Given the description of an element on the screen output the (x, y) to click on. 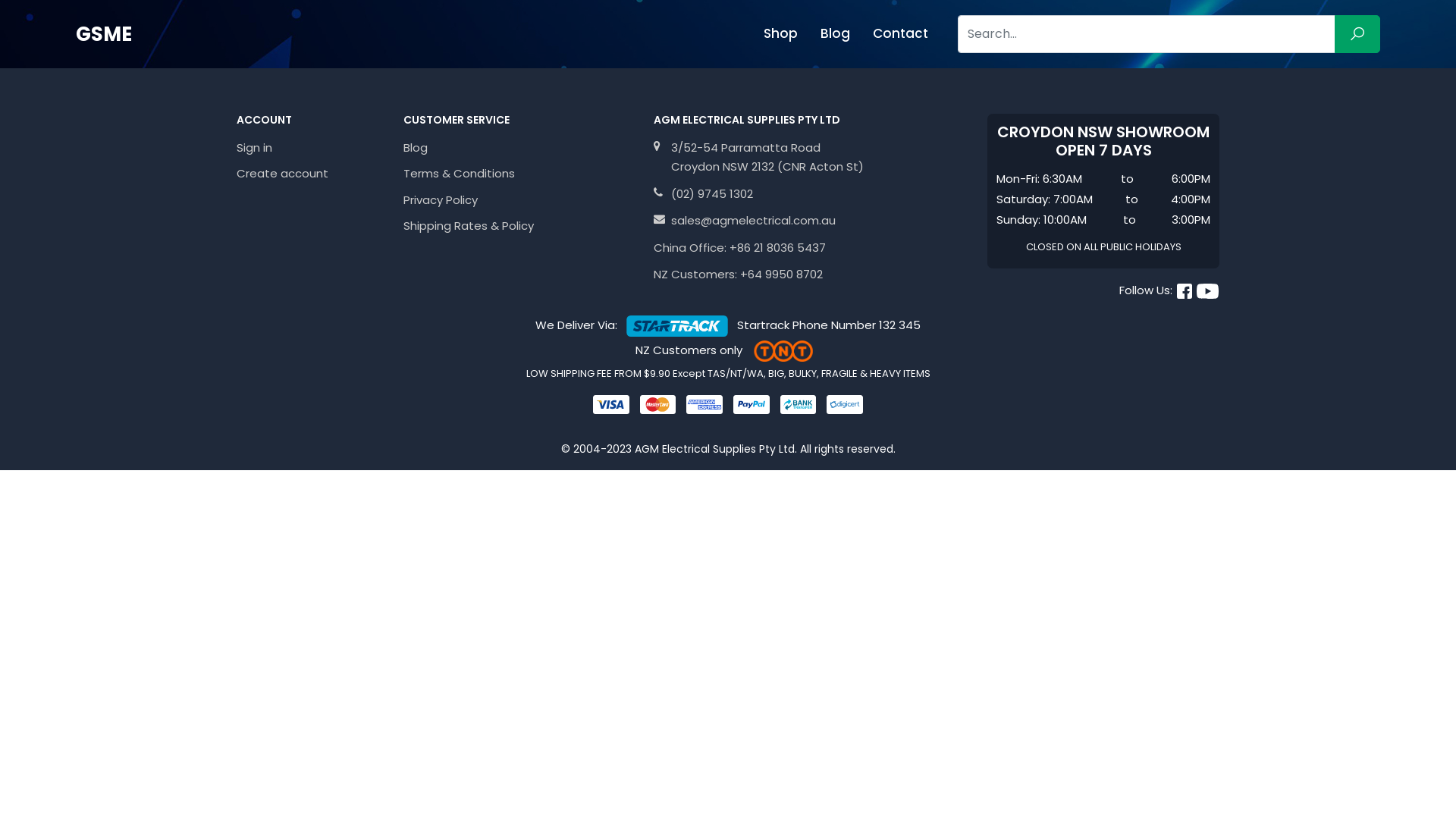
GSME Element type: text (103, 33)
Blog Element type: text (519, 147)
Create account Element type: text (310, 173)
Terms & Conditions Element type: text (519, 173)
Privacy Policy Element type: text (519, 200)
Blog Element type: text (835, 33)
sales@agmelectrical.com.au Element type: text (753, 220)
+86 21 8036 5437 Element type: text (777, 247)
Shop Element type: text (780, 33)
+64 9950 8702 Element type: text (781, 274)
Shipping Rates & Policy Element type: text (519, 225)
(02) 9745 1302 Element type: text (712, 193)
Sign in Element type: text (310, 147)
Contact Element type: text (900, 33)
